Given the description of an element on the screen output the (x, y) to click on. 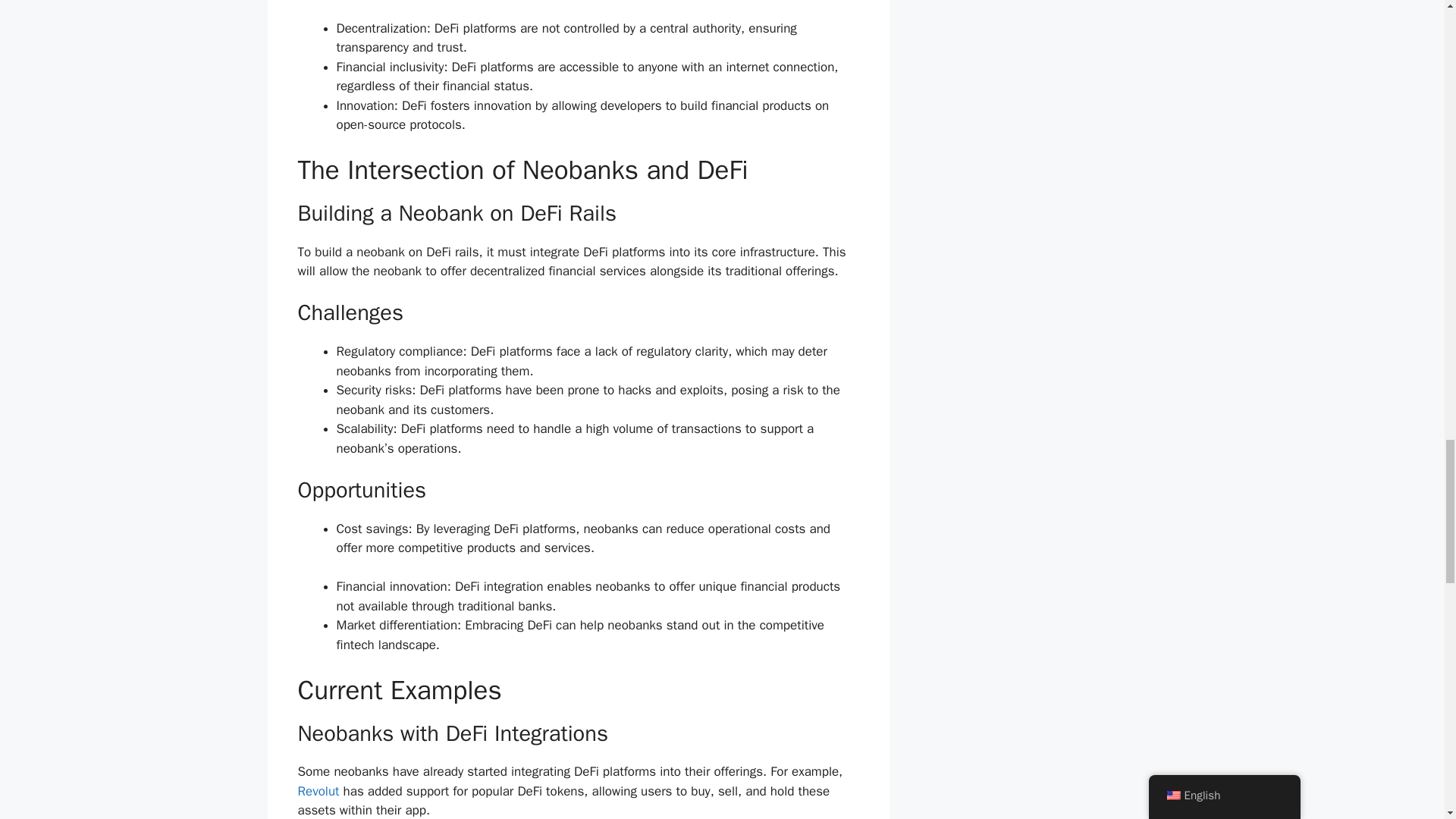
Revolut (318, 790)
